Given the description of an element on the screen output the (x, y) to click on. 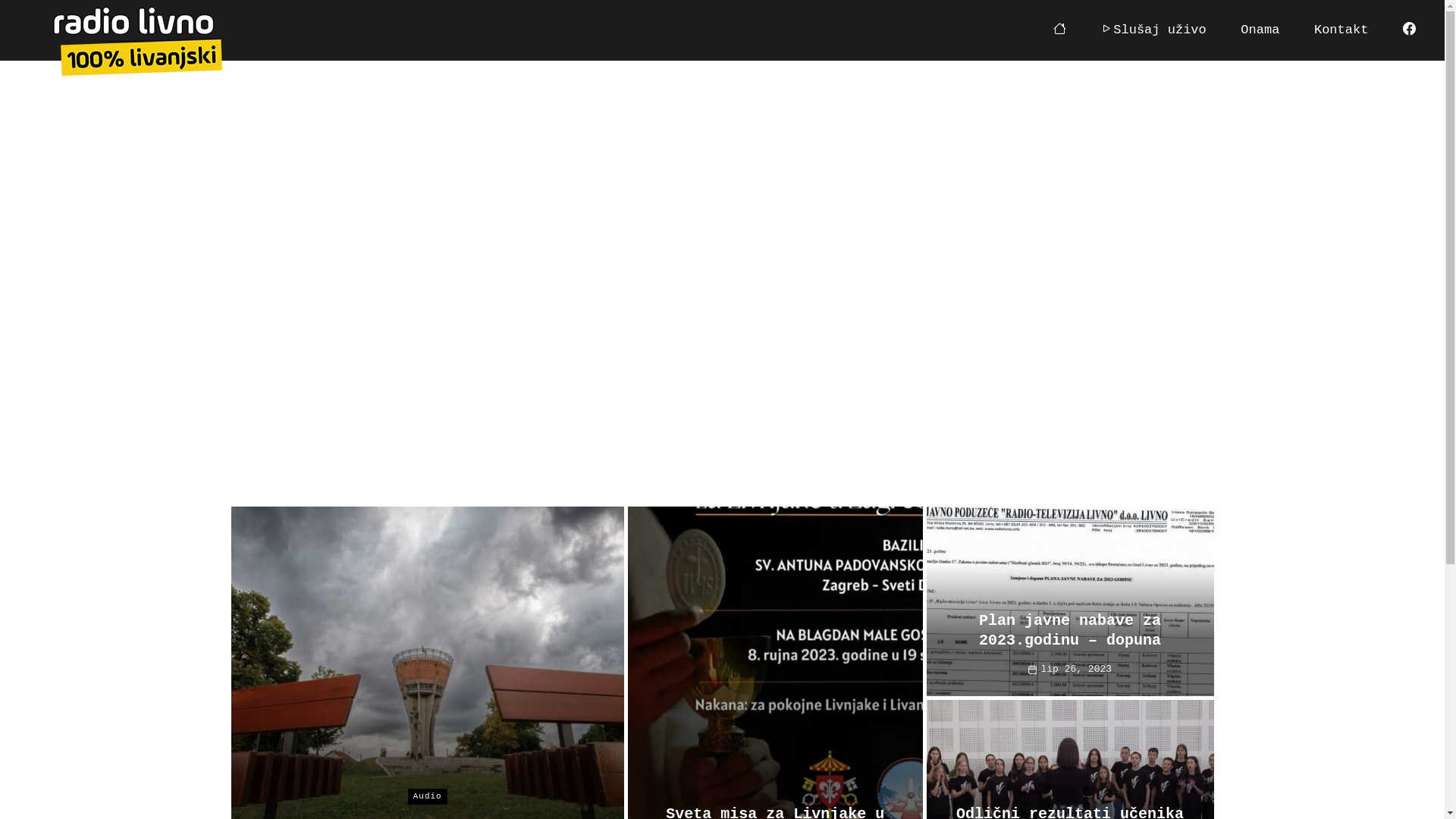
Onama Element type: text (1259, 29)
Kontakt Element type: text (1340, 29)
Audio Element type: text (427, 796)
